Given the description of an element on the screen output the (x, y) to click on. 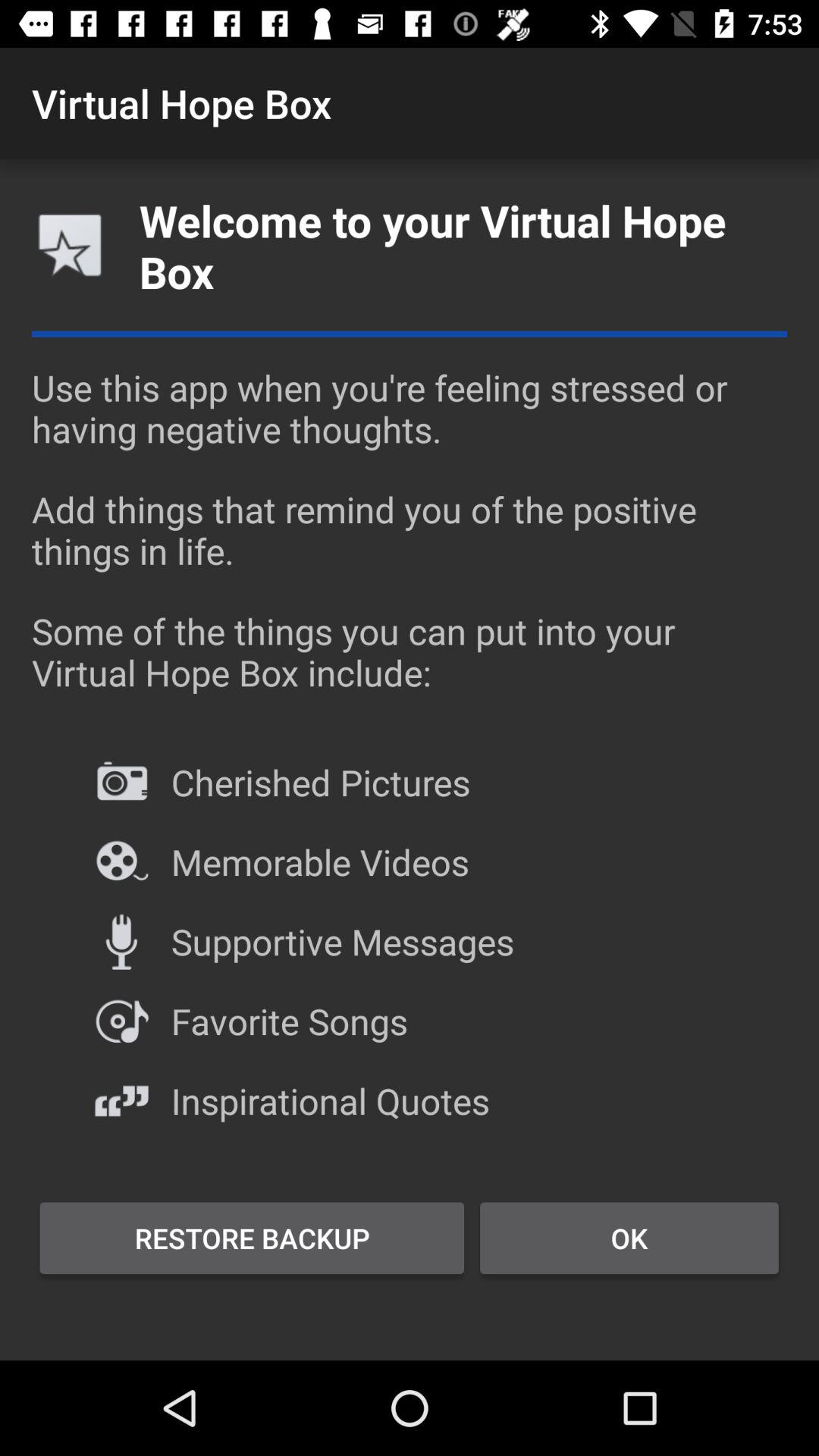
click the icon at the bottom right corner (629, 1237)
